Given the description of an element on the screen output the (x, y) to click on. 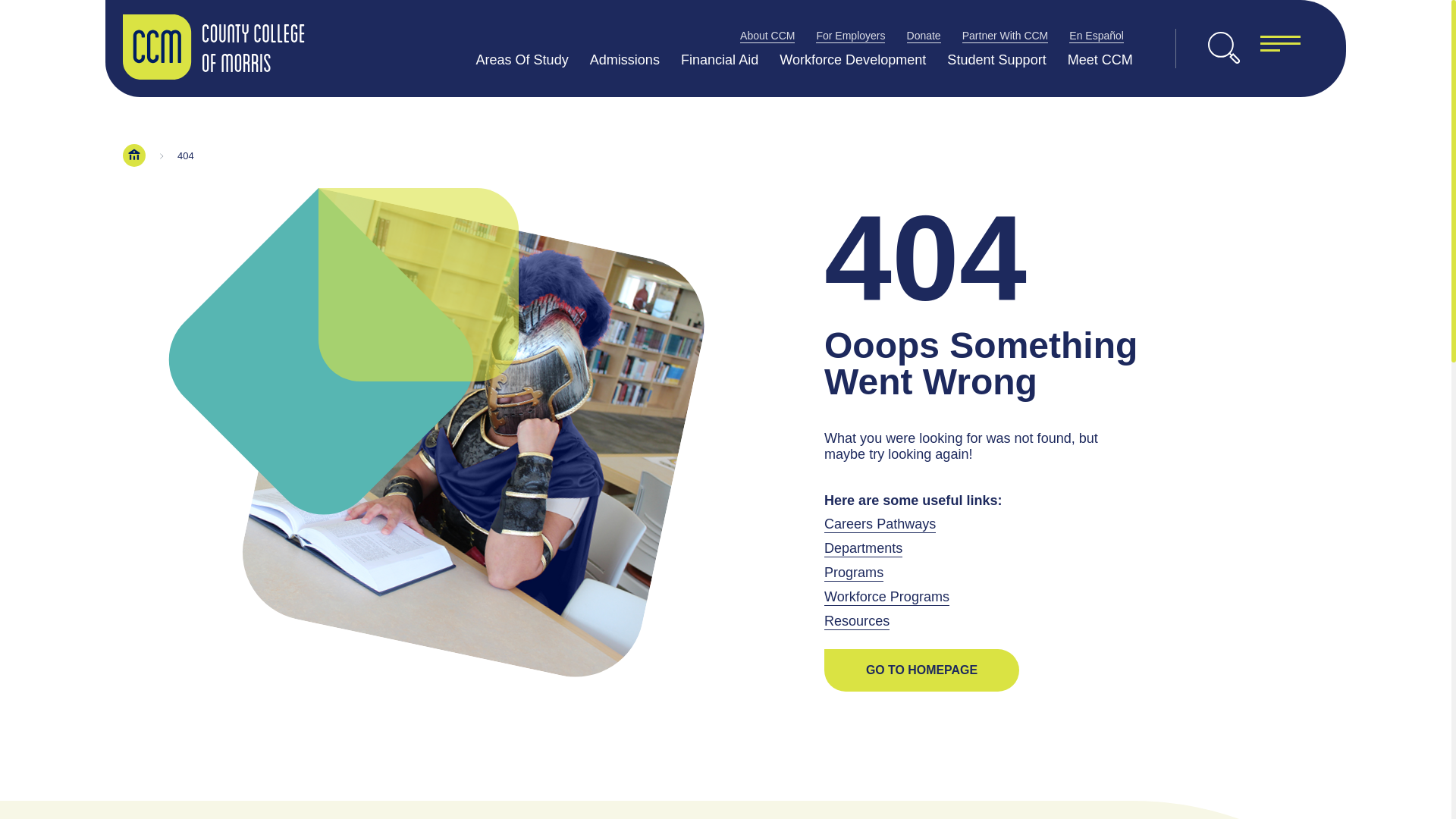
Workforce Development (852, 59)
Areas Of Study (521, 59)
Donate (923, 35)
Partner With CCM (1005, 35)
Admissions (624, 59)
Financial Aid (719, 59)
For Employers (850, 35)
About CCM (766, 35)
